Given the description of an element on the screen output the (x, y) to click on. 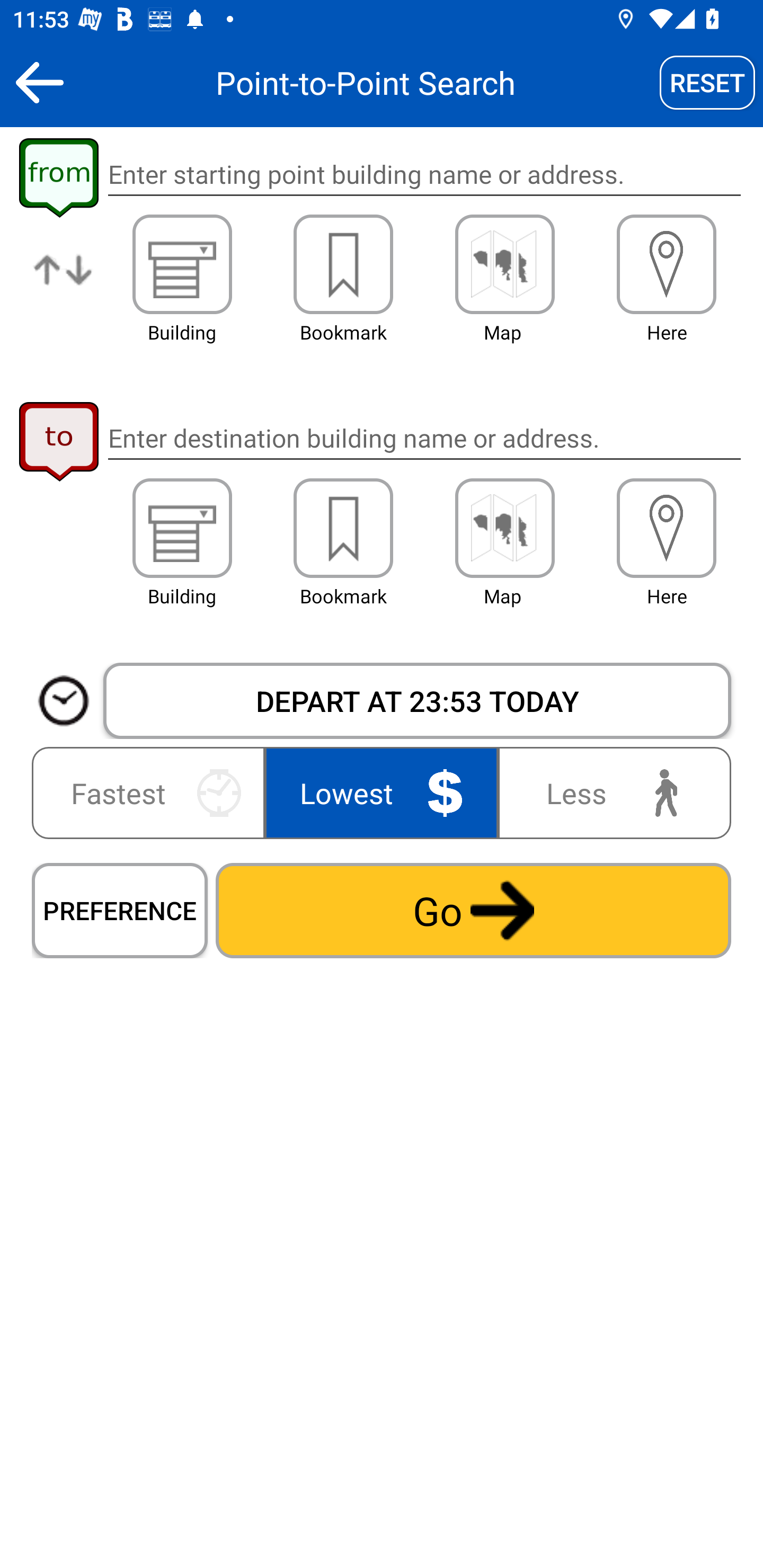
Back (39, 82)
RESET Reset (707, 81)
Enter starting point building name or address. (423, 174)
Building (181, 263)
Bookmarks (342, 263)
Select location on map (504, 263)
Here (666, 263)
Swap origin and destination (63, 284)
Enter destination building name or address. (423, 437)
Building (181, 528)
Bookmarks (342, 528)
Select location on map (504, 528)
Here (666, 528)
Lowest selected (381, 792)
Fastest (151, 792)
Less (610, 792)
PREFERENCE Preference (119, 910)
Go (472, 910)
